Given the description of an element on the screen output the (x, y) to click on. 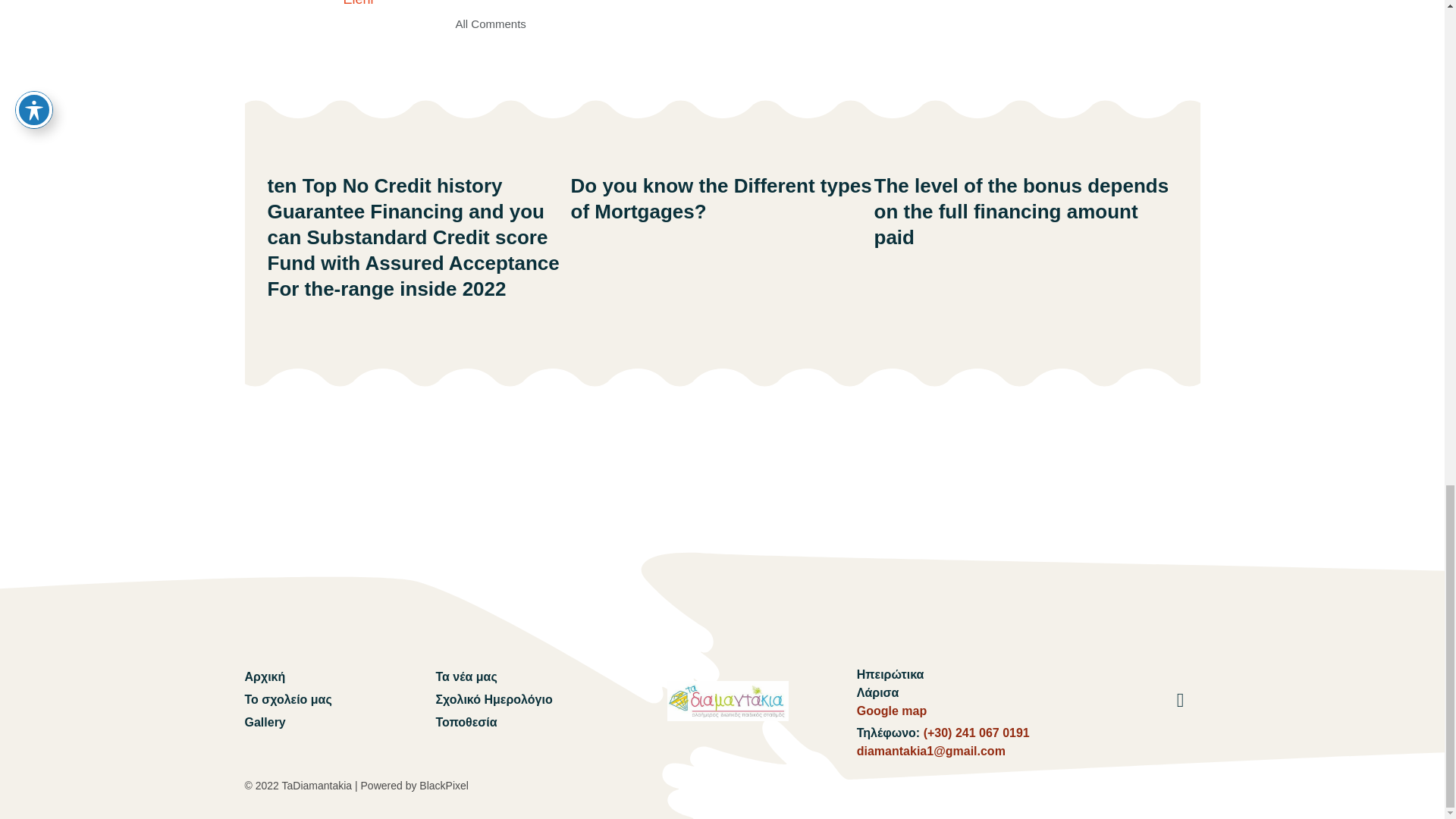
All Comments (489, 23)
